Given the description of an element on the screen output the (x, y) to click on. 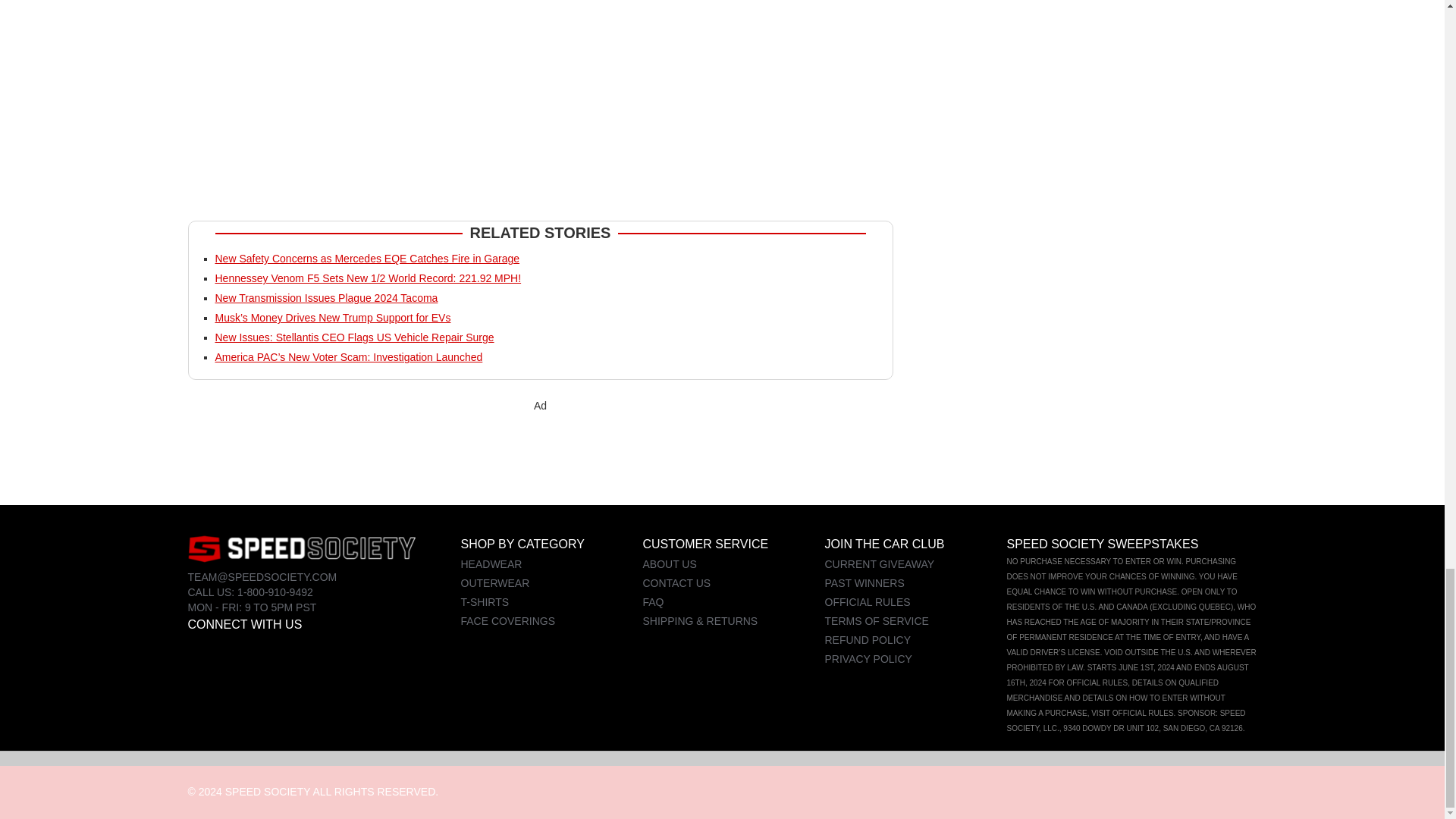
New Safety Concerns as Mercedes EQE Catches Fire in Garage (367, 258)
New Transmission Issues Plague 2024 Tacoma (326, 297)
footer logo (300, 548)
New Issues: Stellantis CEO Flags US Vehicle Repair Surge (355, 337)
